Given the description of an element on the screen output the (x, y) to click on. 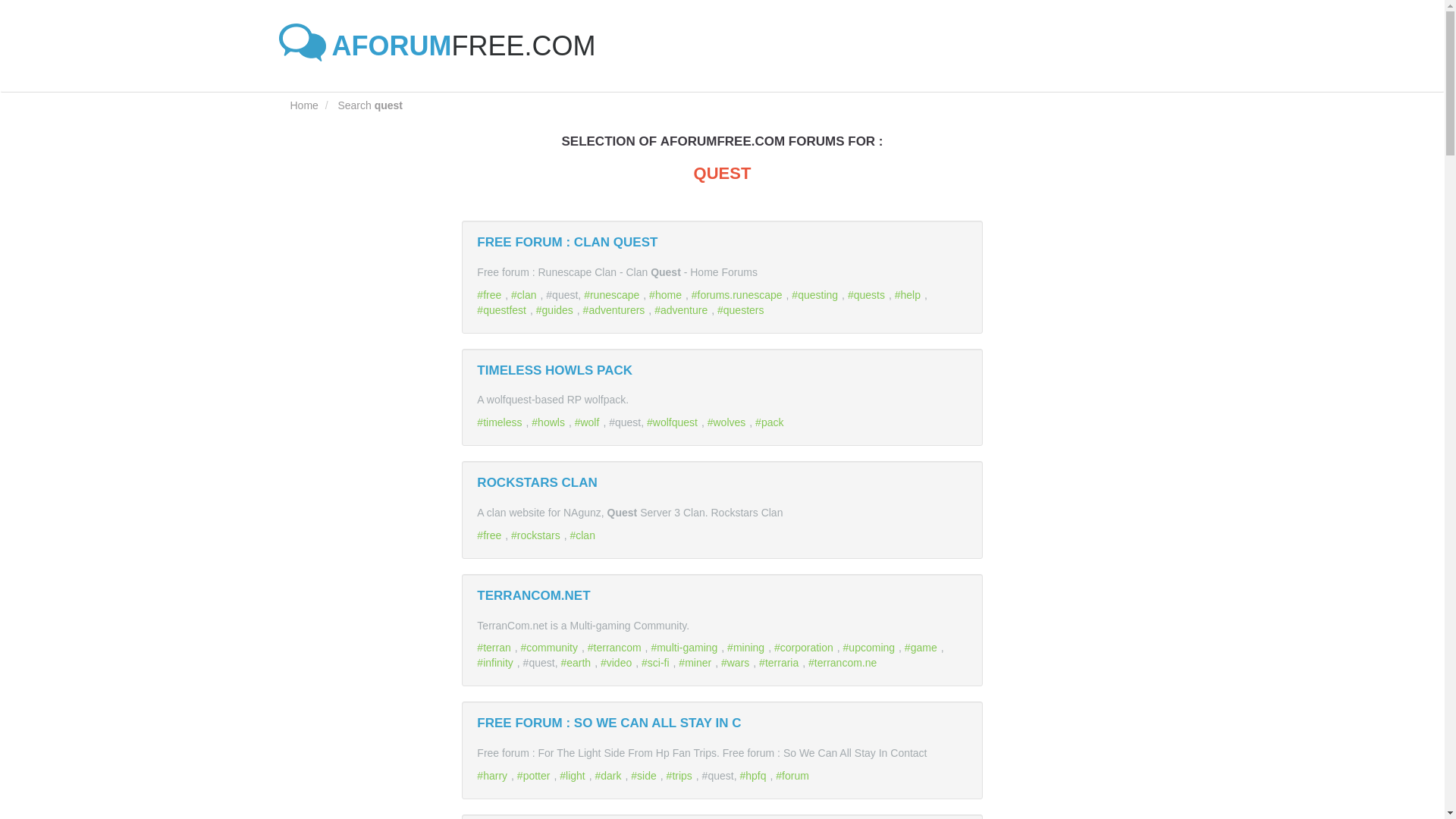
game (922, 647)
clan (583, 535)
free (491, 295)
wolves (728, 422)
wolves (728, 422)
home (667, 295)
questing (816, 295)
timeless (501, 422)
earth (577, 662)
wolf (589, 422)
sci-fi (657, 662)
TERRANCOM.NET (533, 595)
home (667, 295)
questfest (503, 309)
timeless (501, 422)
